Given the description of an element on the screen output the (x, y) to click on. 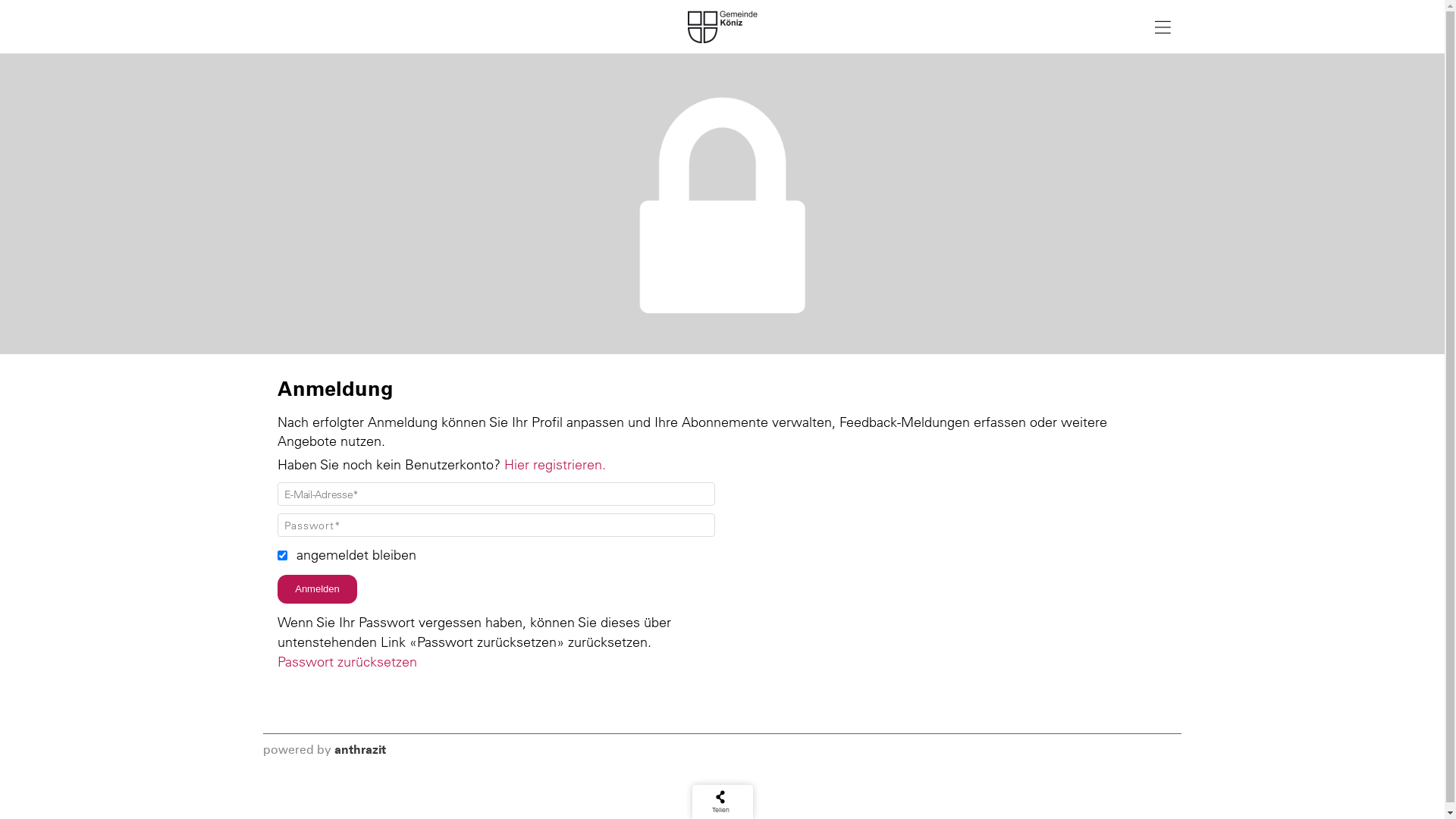
Navigation anzeigen Element type: hover (1162, 24)
by Element type: text (323, 748)
Anmelden Element type: text (317, 588)
Hier registrieren. Element type: text (554, 464)
Teilen Element type: text (719, 801)
